Given the description of an element on the screen output the (x, y) to click on. 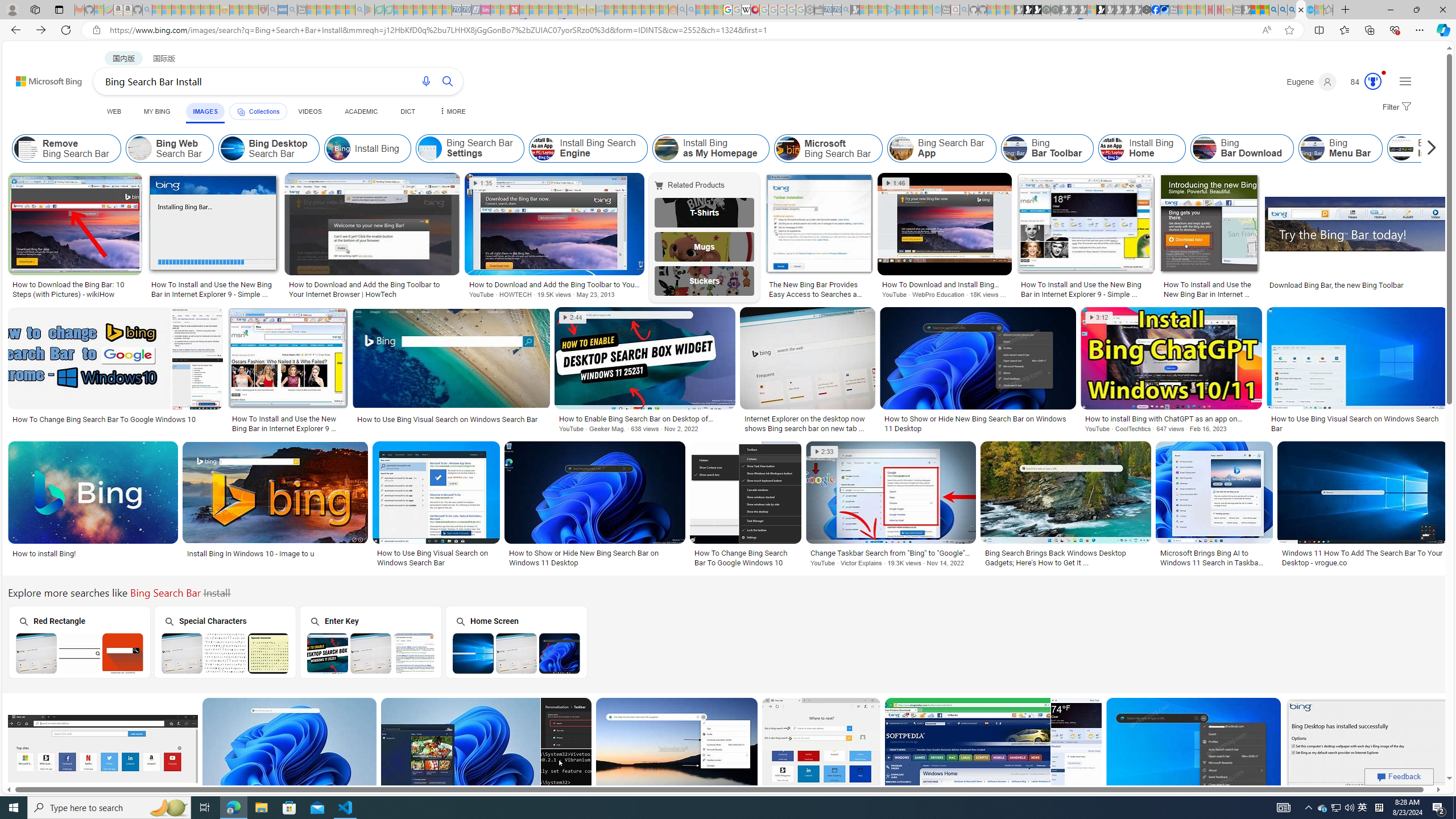
ACADEMIC (360, 111)
Bing Bar Download (1242, 148)
Nordace | Facebook (1154, 9)
How to install Bing! (44, 552)
Download Bing Bar, the new Bing ToolbarSave (1356, 237)
